Given the description of an element on the screen output the (x, y) to click on. 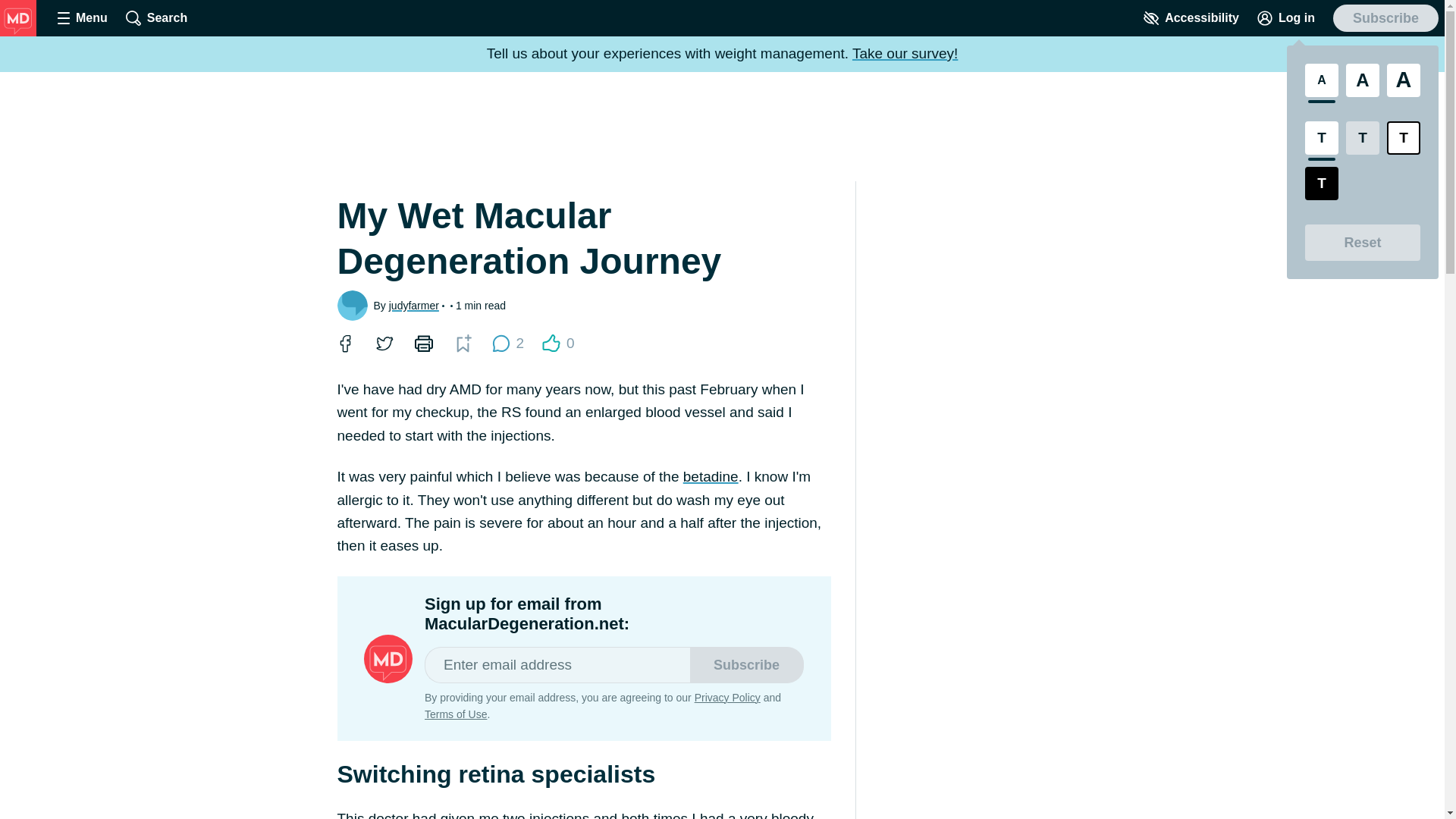
Search (156, 18)
comment (500, 343)
Bookmark for later (462, 343)
Log in (1285, 18)
Reactions (550, 343)
Reset (1362, 242)
Subscribe (1385, 17)
Share to Facebook (344, 343)
Bookmark for later (461, 343)
A (1361, 80)
Accessibility (506, 343)
T (1190, 18)
Share to Twitter (1404, 137)
Subscribe (383, 343)
